Given the description of an element on the screen output the (x, y) to click on. 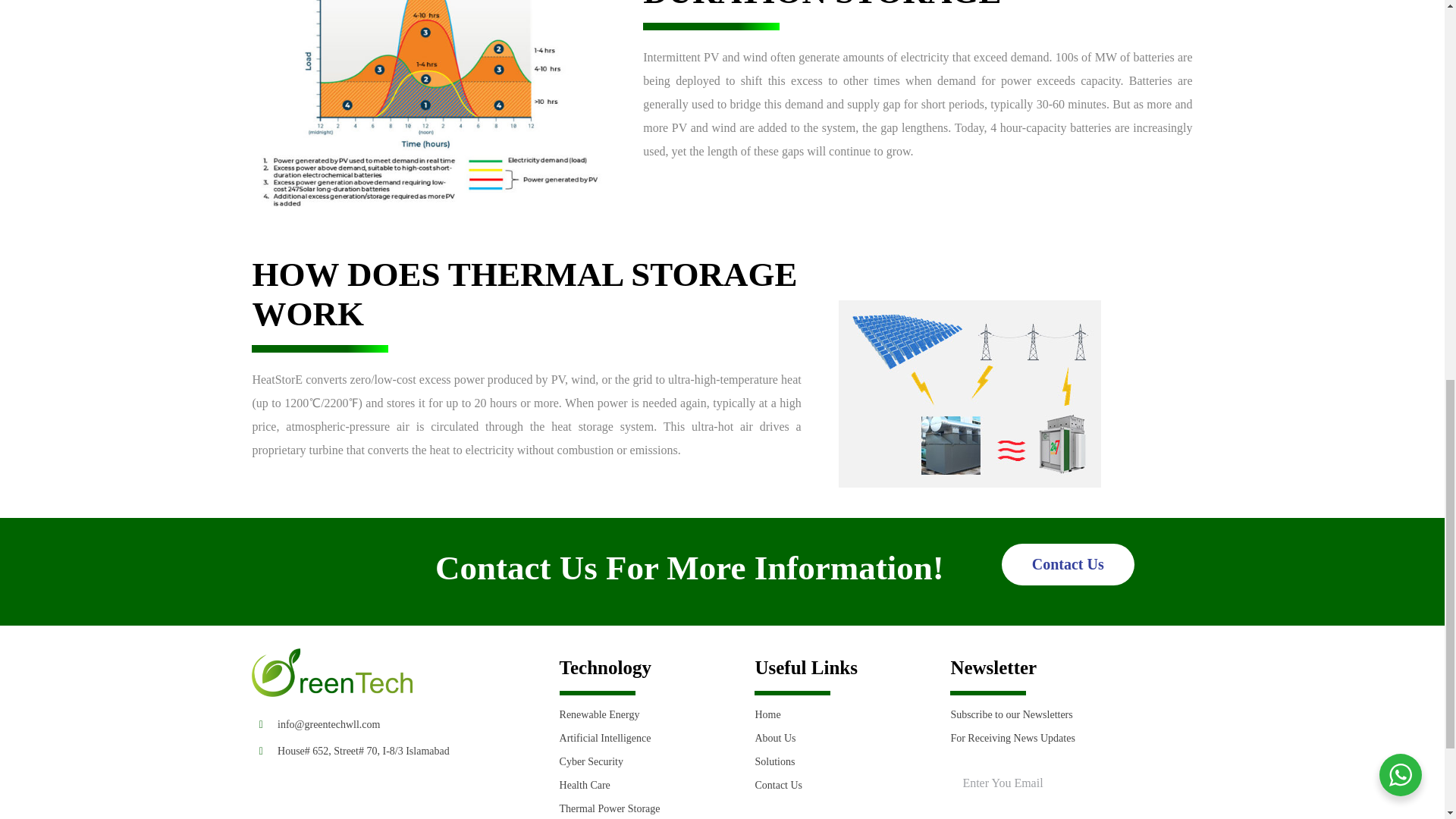
green tech logo file3 (331, 672)
heatstore-01 (969, 393)
Artificial Intelligence (647, 738)
Cyber Security (647, 761)
Thermal Power Storage (647, 807)
Renewable Energy (647, 714)
Contact Us (1067, 564)
Health Care (647, 784)
